Given the description of an element on the screen output the (x, y) to click on. 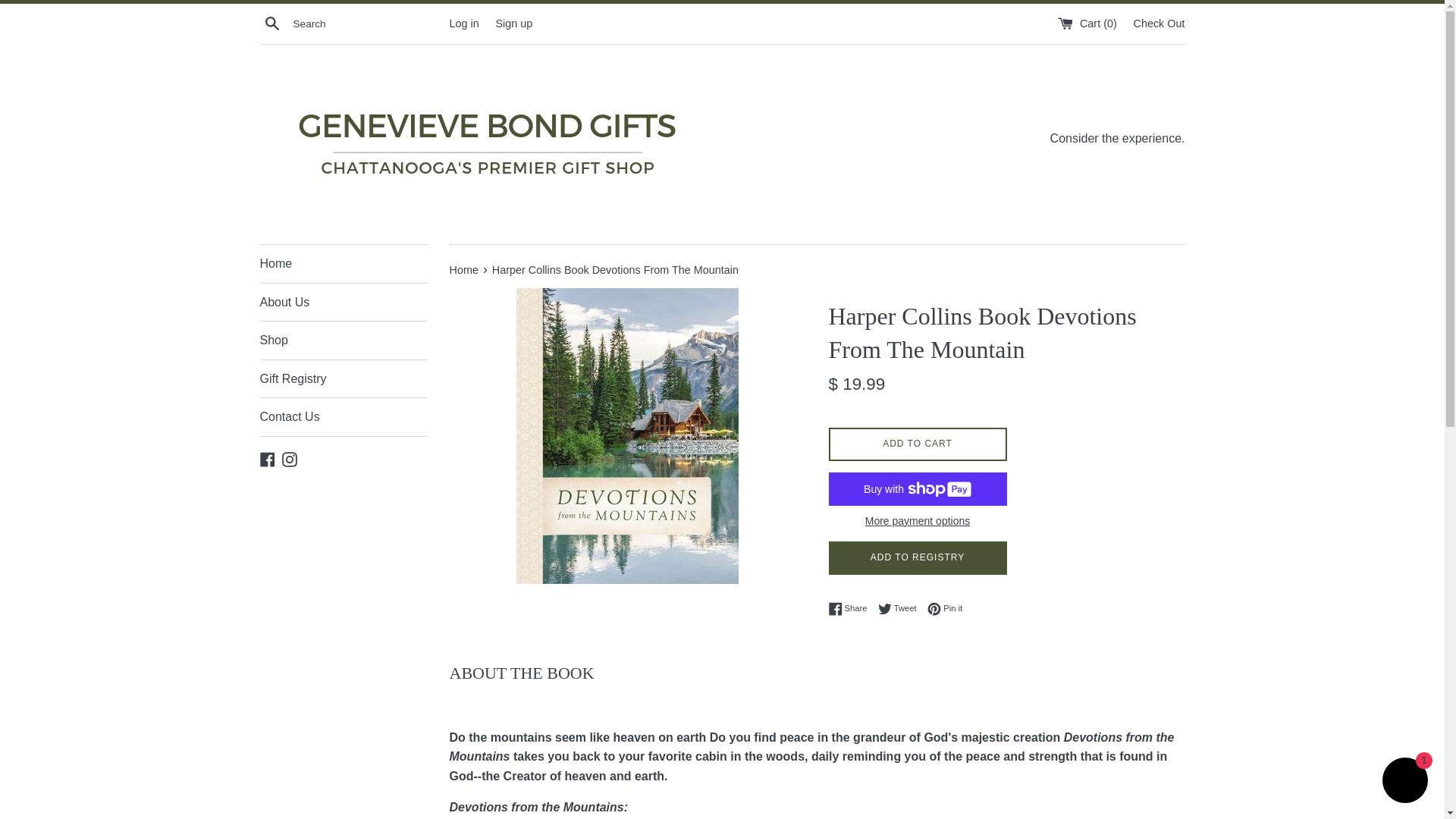
Gift Registry (900, 608)
Home (342, 379)
Share on Facebook (464, 269)
Log in (851, 608)
Back to the frontpage (463, 22)
More payment options (464, 269)
Pin on Pinterest (917, 520)
Sign up (944, 608)
Contact Us (513, 22)
Shop (342, 416)
ADD TO CART (342, 340)
Tweet on Twitter (917, 444)
Add to Registry (900, 608)
